Given the description of an element on the screen output the (x, y) to click on. 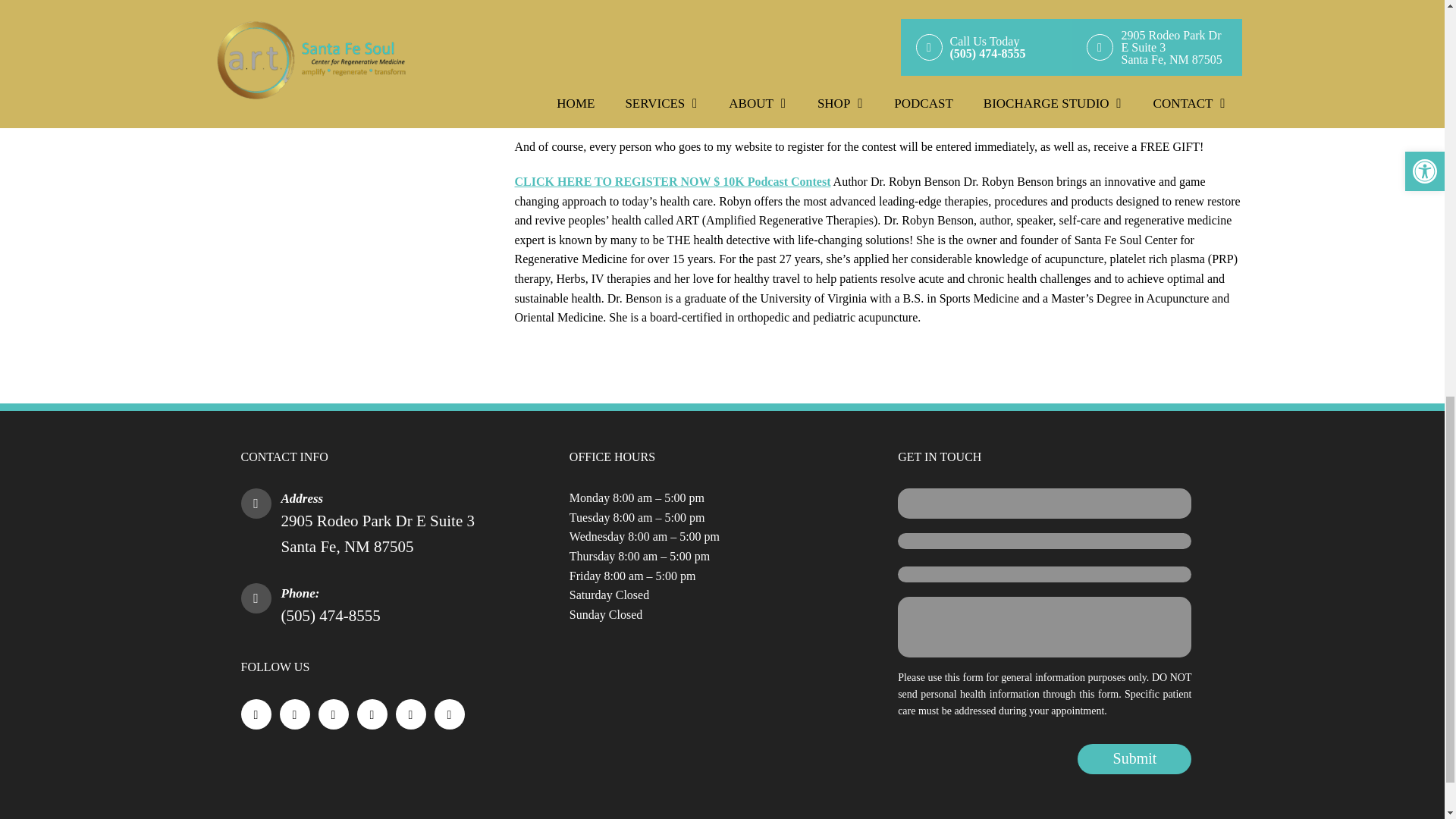
Submit (1134, 758)
